Given the description of an element on the screen output the (x, y) to click on. 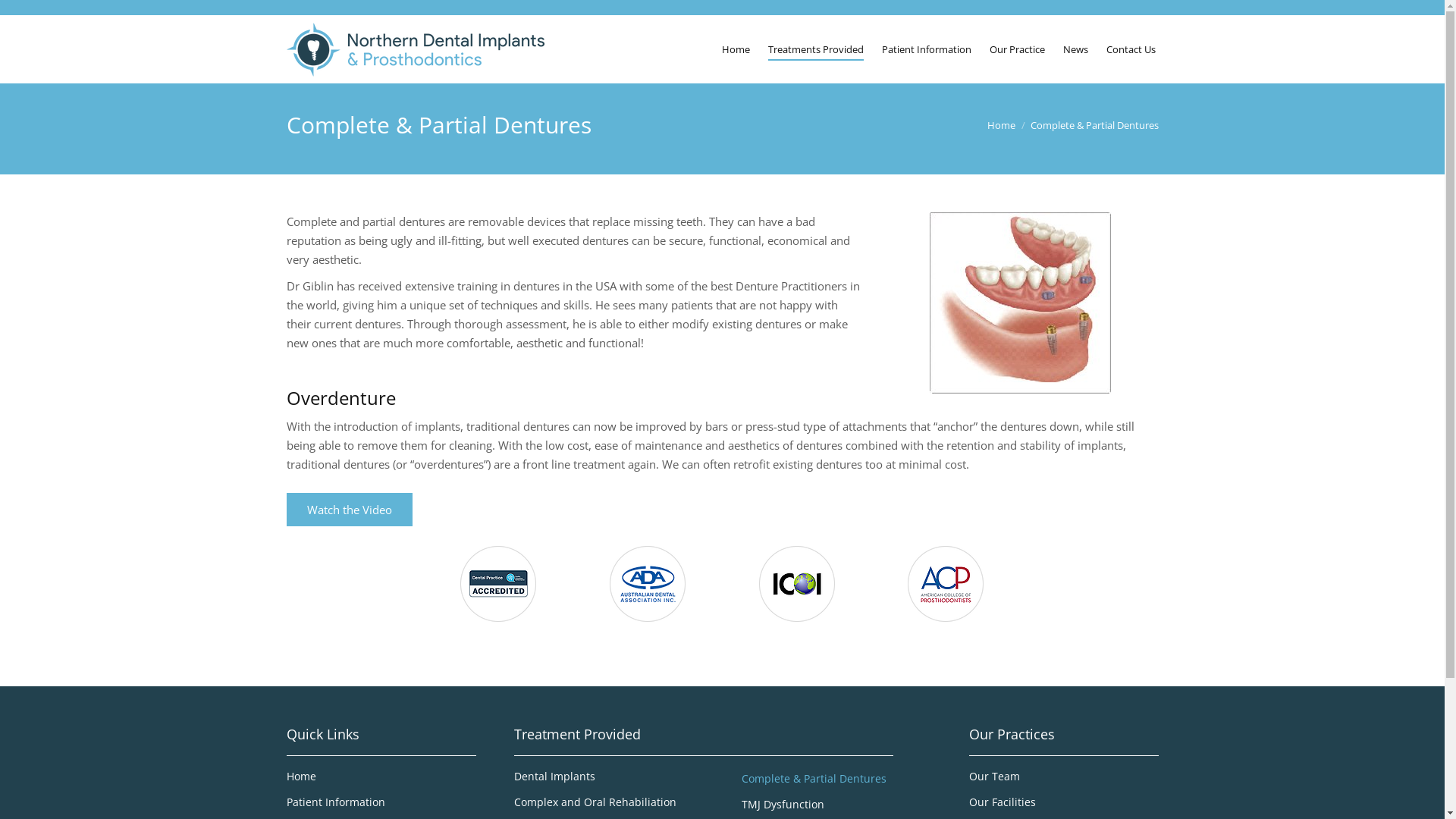
Contact Us Element type: text (1129, 48)
Our Team Element type: text (1063, 780)
News Element type: text (1075, 48)
Dental Implants Element type: text (608, 780)
lg4 Element type: hover (647, 583)
lg1 Element type: hover (498, 583)
lg2 Element type: hover (945, 583)
Patient Information Element type: text (925, 48)
Home Element type: text (381, 780)
Our Practice Element type: text (1016, 48)
Watch the Video Element type: text (349, 509)
Home Element type: text (1001, 124)
Home Element type: text (735, 48)
denture Element type: hover (1020, 303)
Treatments Provided Element type: text (815, 48)
Complete & Partial Dentures Element type: text (836, 782)
lg3 Element type: hover (796, 583)
